Given the description of an element on the screen output the (x, y) to click on. 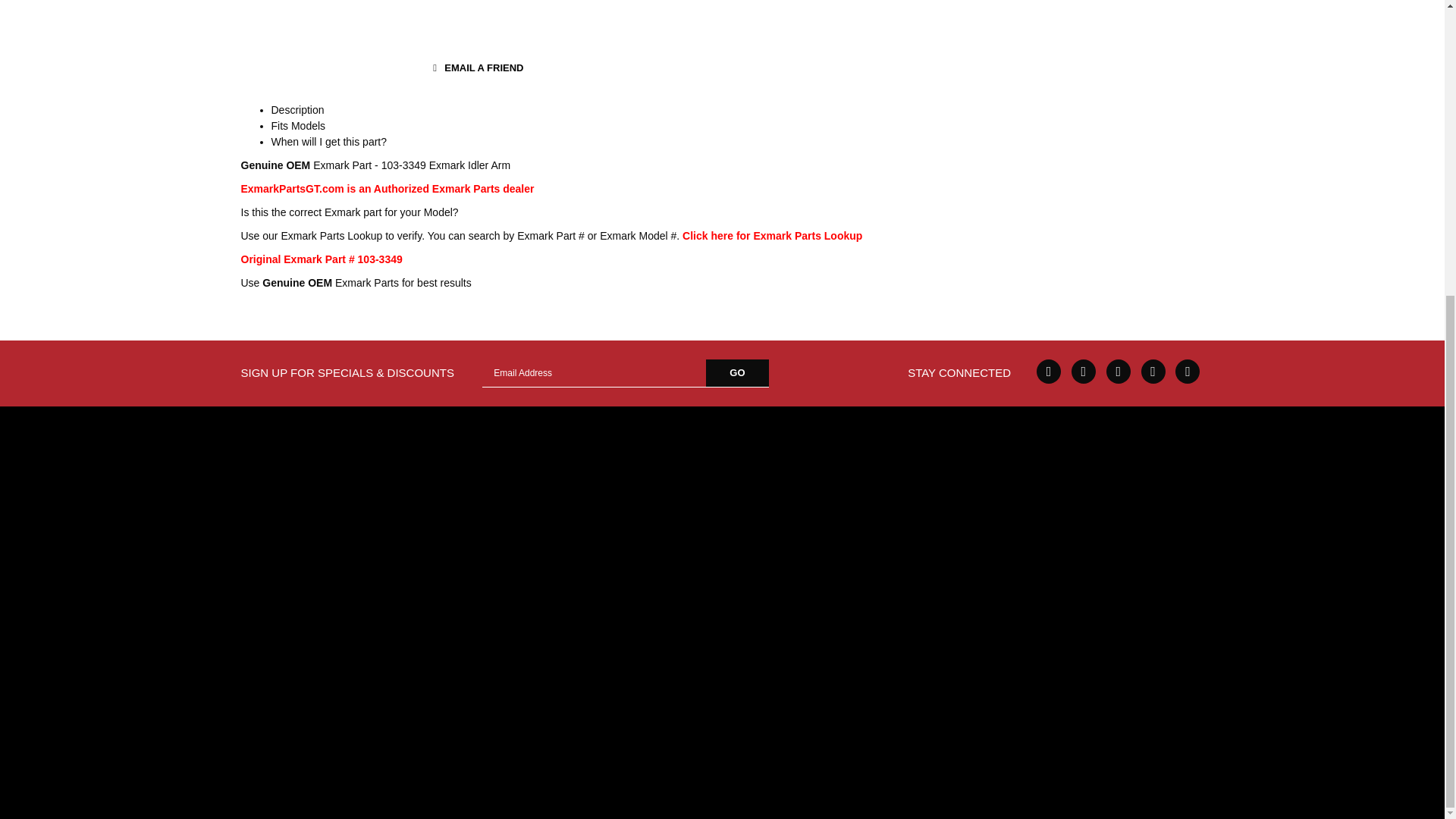
Like Us on Facebook (1048, 371)
Follow Us on Pinterest (1153, 371)
 Exmark Parts Diagrams (771, 235)
EMAIL A FRIEND (475, 68)
Follow Us on Twitter (1083, 371)
Subscribe to our Channel (1118, 371)
Follow Us on Instagram (1186, 371)
